Given the description of an element on the screen output the (x, y) to click on. 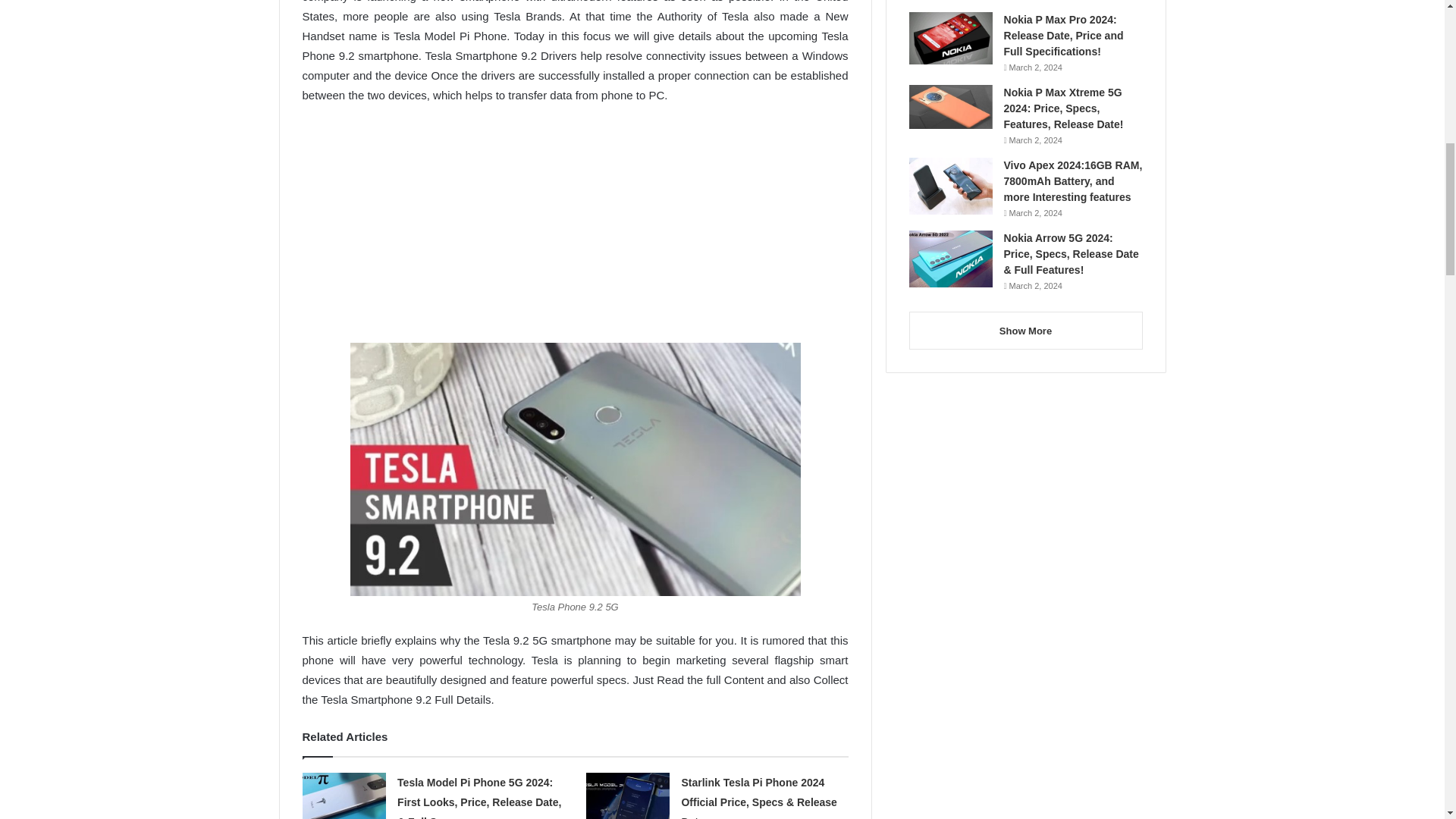
Advertisement (574, 230)
